Given the description of an element on the screen output the (x, y) to click on. 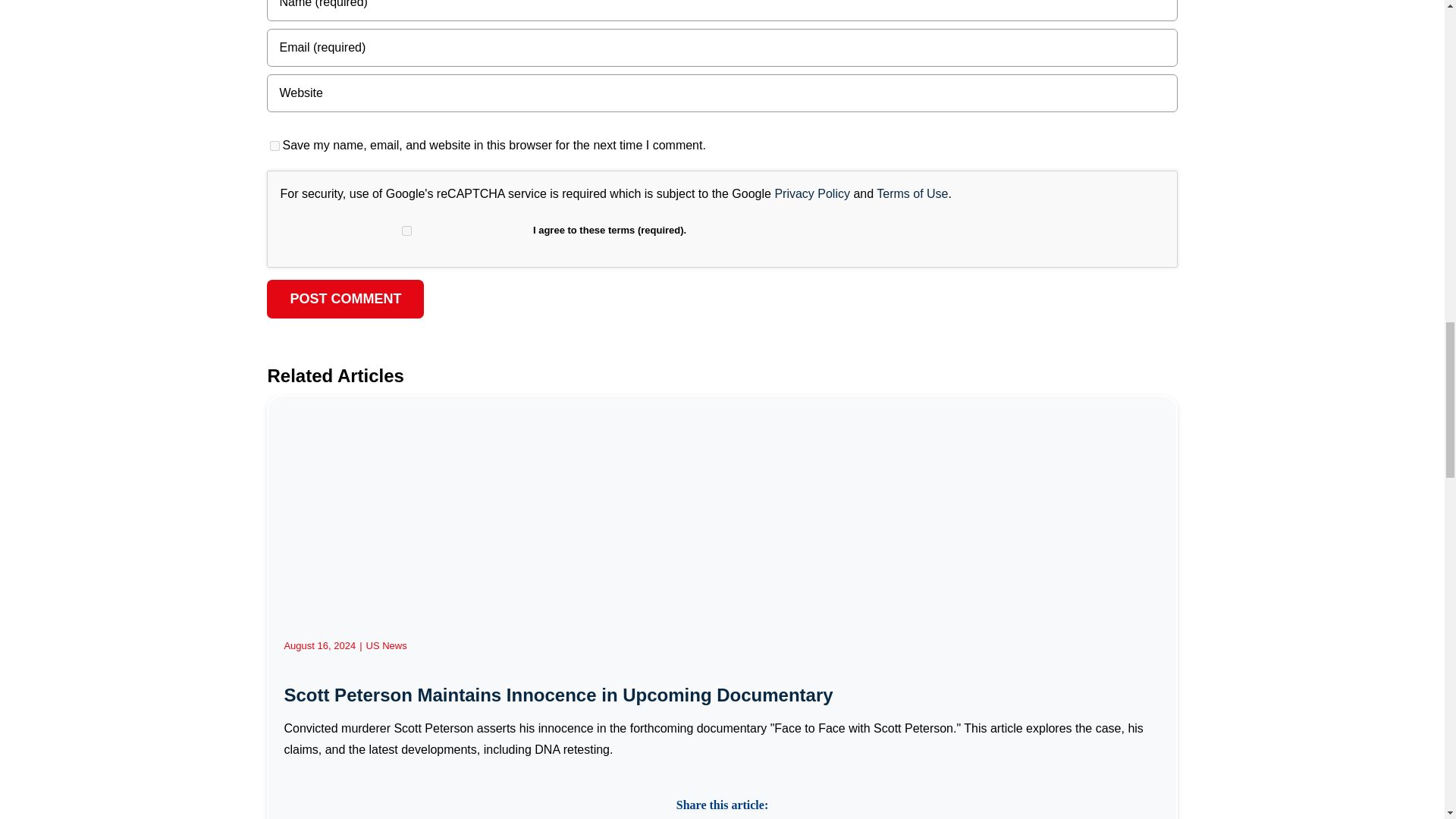
Post Comment (344, 299)
on (406, 230)
yes (274, 145)
